Given the description of an element on the screen output the (x, y) to click on. 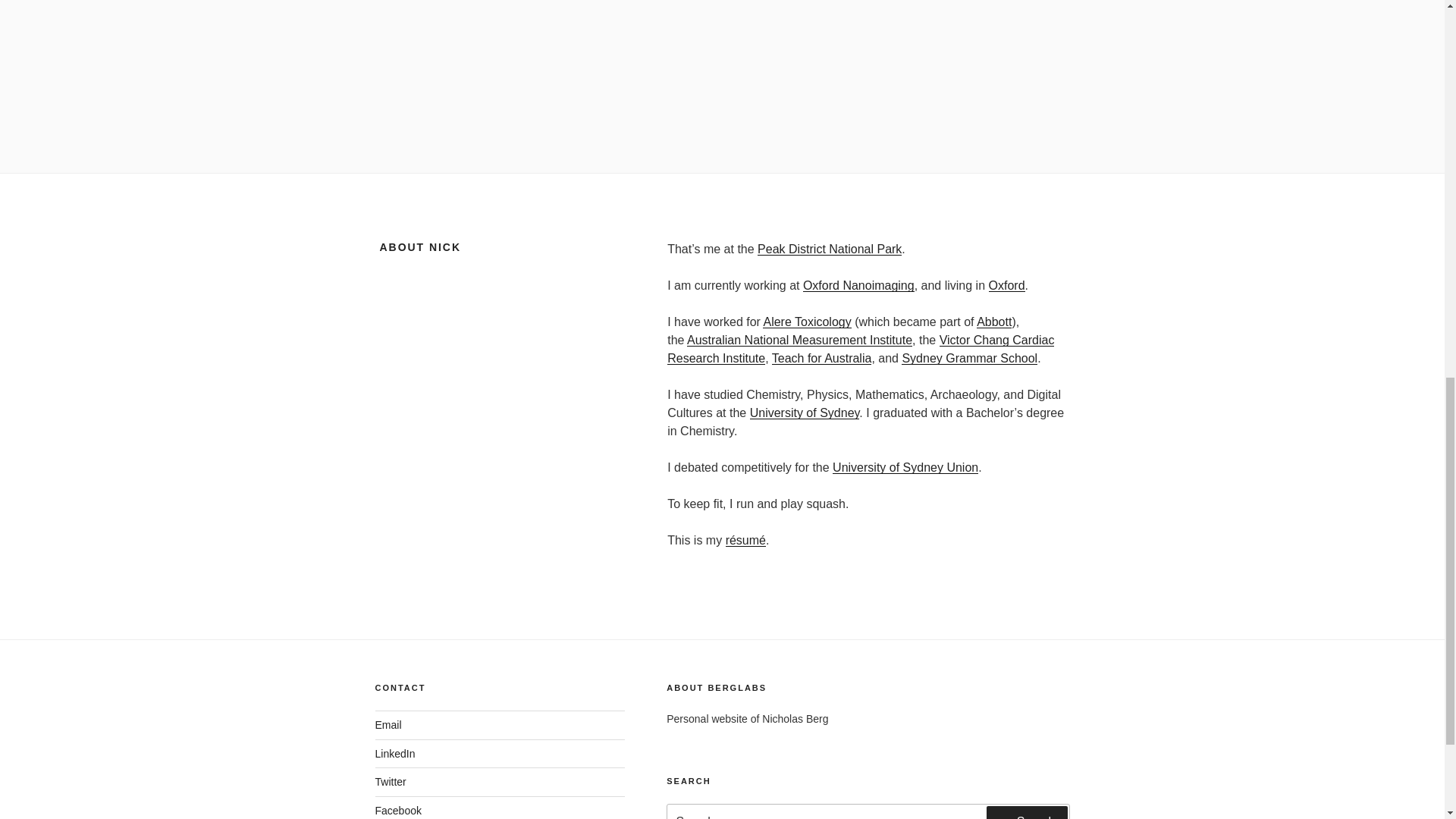
Peak District National Park (829, 248)
Sydney Grammar School (968, 358)
Teach for Australia (821, 358)
Oxford Nanoimaging (858, 285)
LinkedIn (394, 753)
Abbott (993, 321)
Victor Chang Cardiac Research Institute (860, 348)
Facebook (397, 810)
University of Sydney Union (905, 467)
University of Sydney (804, 412)
